Given the description of an element on the screen output the (x, y) to click on. 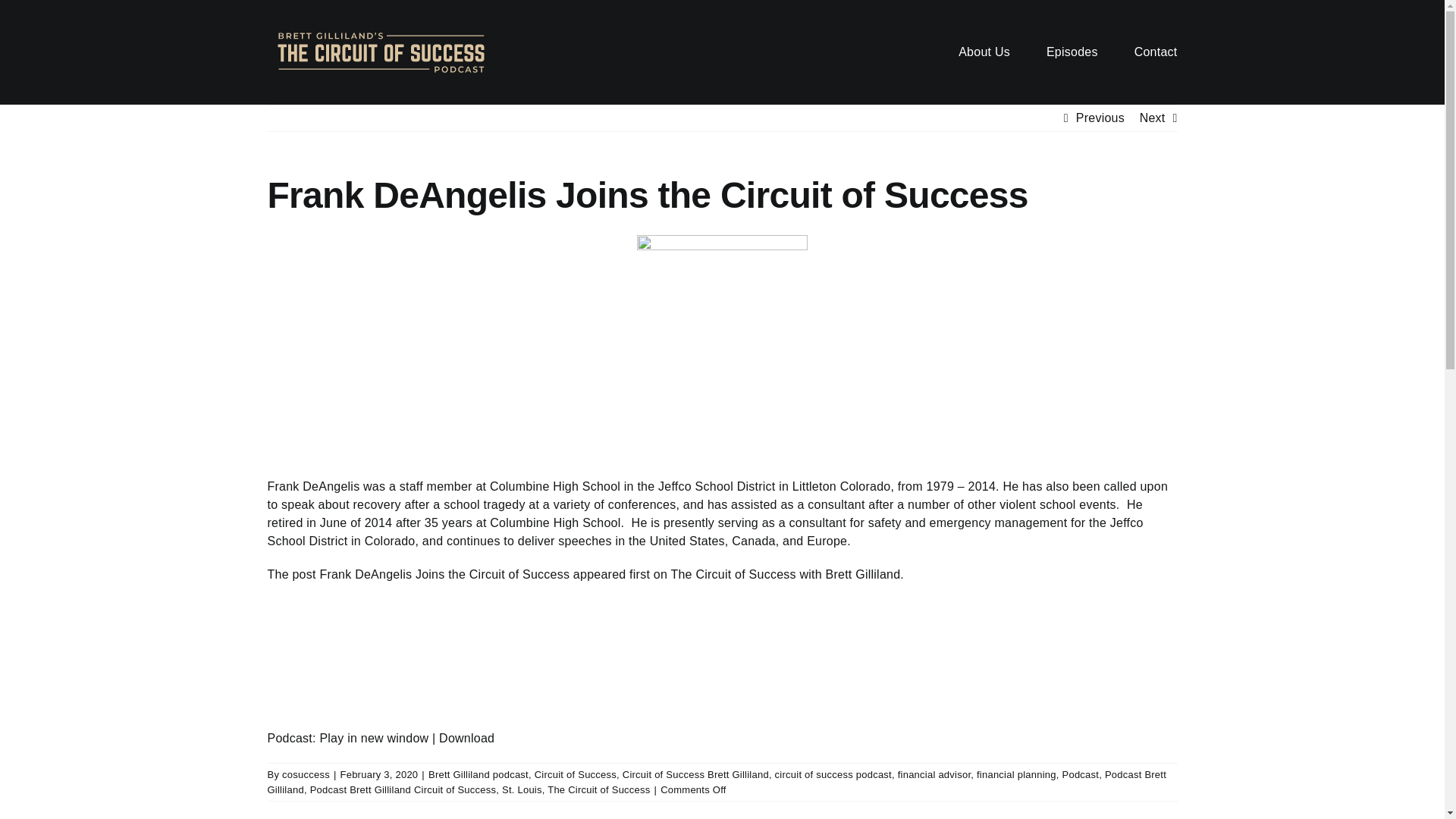
St. Louis (521, 789)
Play in new window (373, 738)
Download (467, 738)
Brett Gilliland podcast (478, 774)
Download (467, 738)
financial advisor (934, 774)
Circuit of Success (574, 774)
Podcast Brett Gilliland (716, 782)
Circuit of Success Brett Gilliland (695, 774)
The Circuit of Success (598, 789)
